Given the description of an element on the screen output the (x, y) to click on. 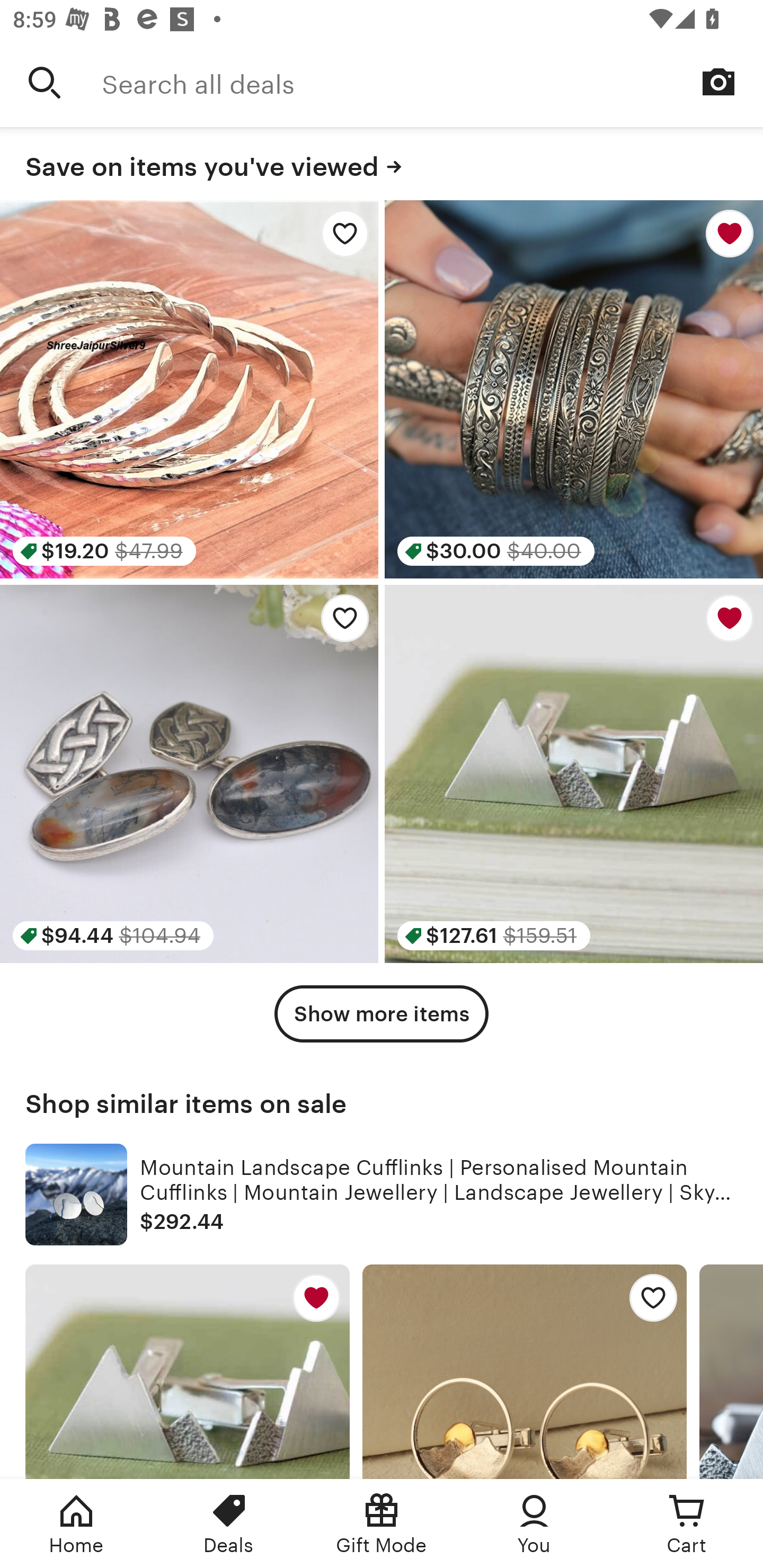
Search for anything on Etsy (44, 82)
Search by image (718, 81)
Search all deals (432, 82)
Save on items you've viewed (381, 164)
Show more items (381, 1013)
Home (76, 1523)
Gift Mode (381, 1523)
You (533, 1523)
Cart (686, 1523)
